Given the description of an element on the screen output the (x, y) to click on. 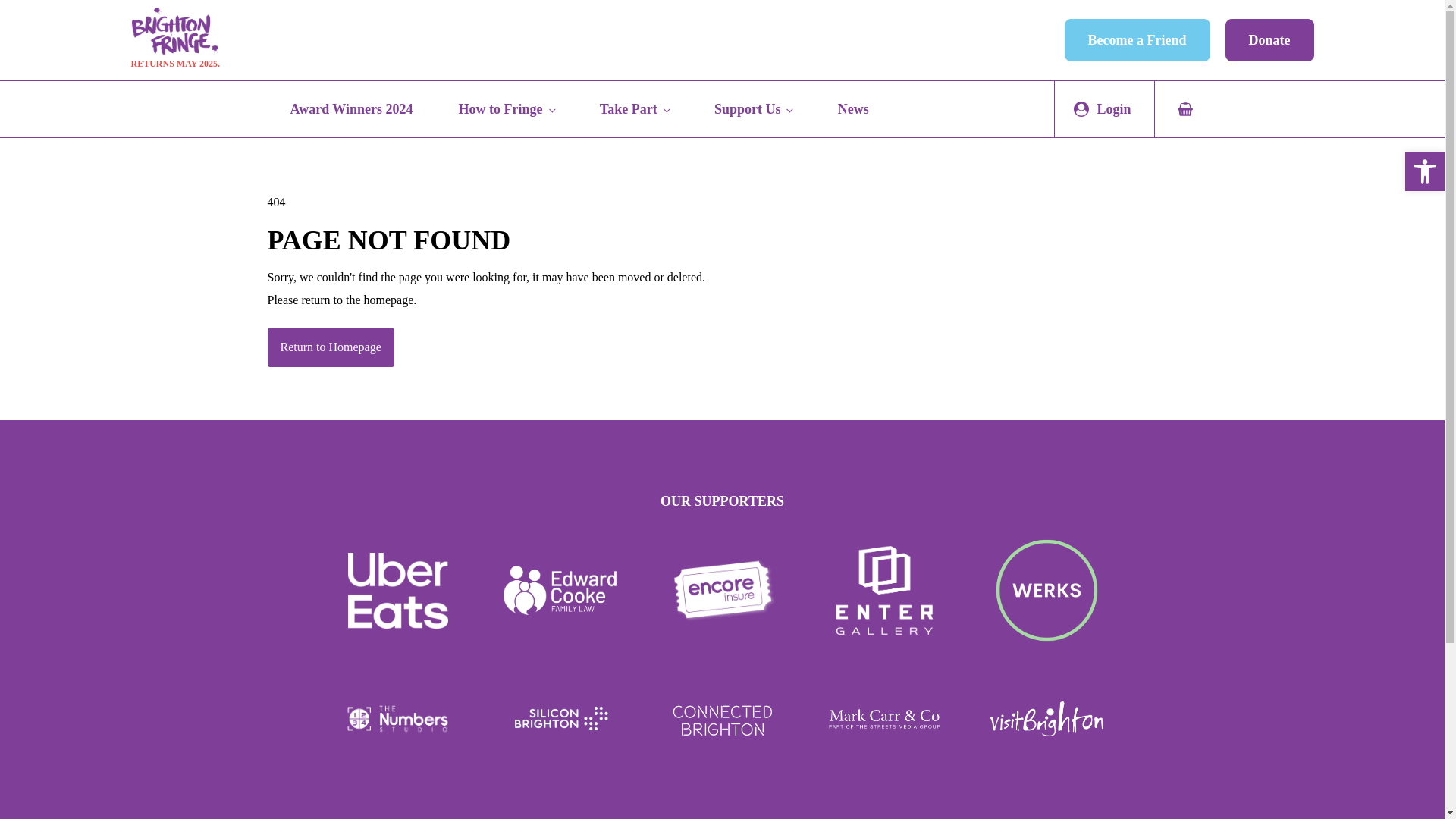
Accessibility Tools (1424, 170)
Become a Friend (1136, 39)
How to Fringe (505, 109)
Award Winners 2024 (350, 109)
News (853, 109)
Take Part (633, 109)
Support Us (753, 109)
Donate (1269, 39)
RETURNS MAY 2025. (175, 39)
